Given the description of an element on the screen output the (x, y) to click on. 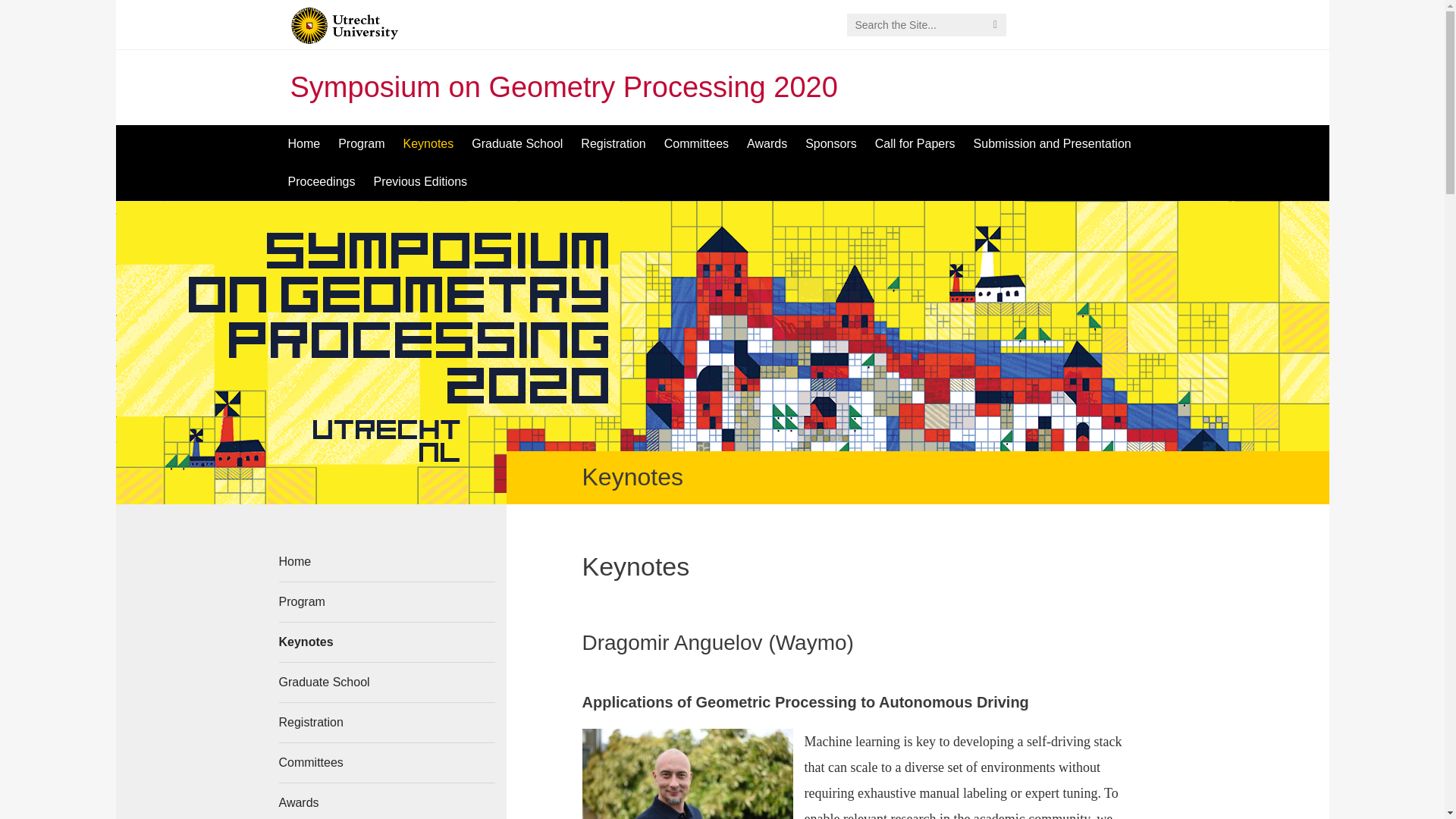
Graduate School (387, 681)
Keynotes (387, 641)
Awards (387, 800)
Graduate School (517, 143)
Registration (612, 143)
Awards (767, 143)
Committees (696, 143)
Committees (387, 762)
Submission and Presentation (1051, 143)
Previous Editions (420, 181)
Sponsors (831, 143)
Symposium on Geometry Processing 2020 (563, 87)
Registration (612, 143)
Keynotes (428, 143)
Call for Papers (914, 143)
